Given the description of an element on the screen output the (x, y) to click on. 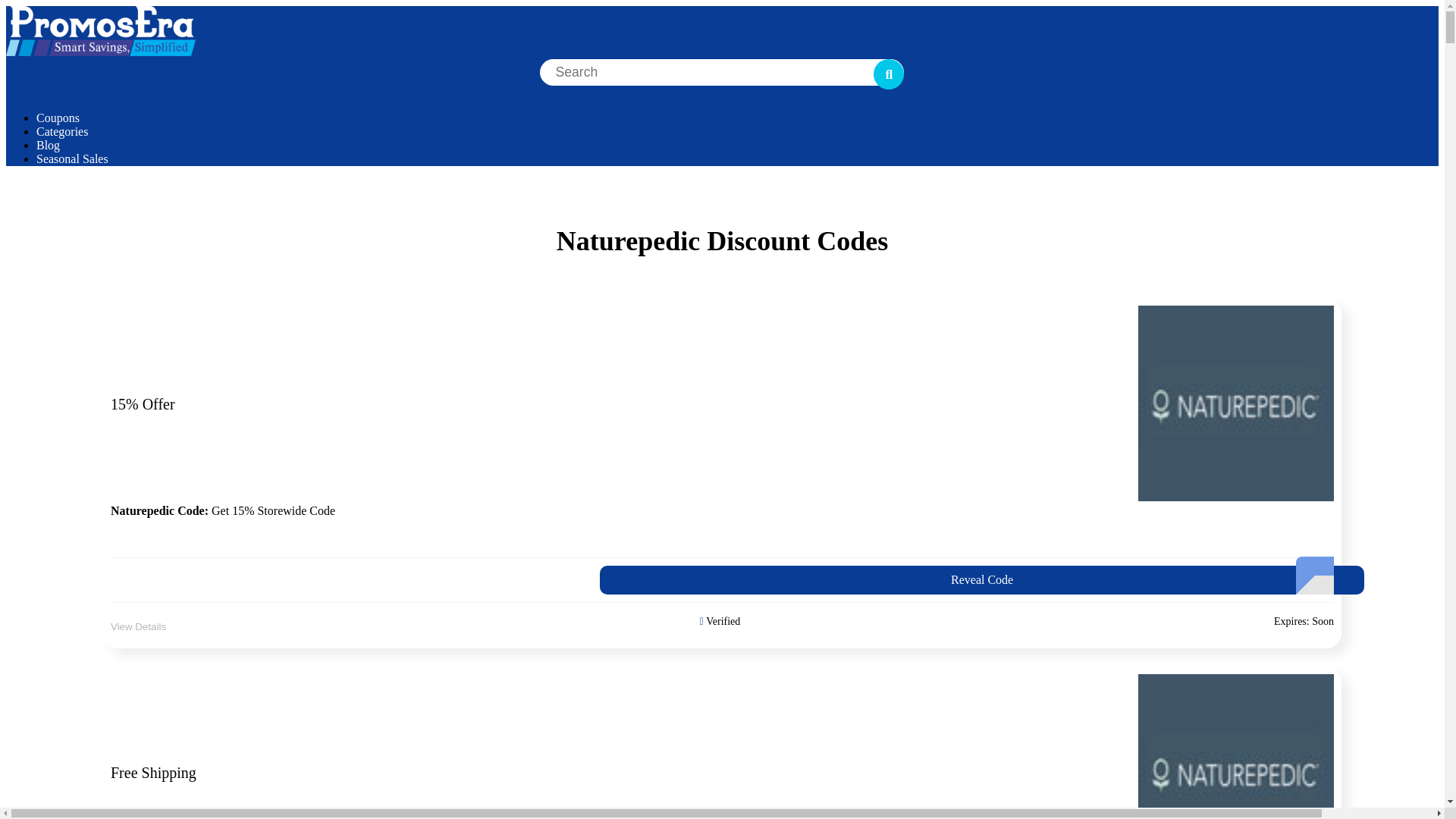
Seasonal Sales (71, 158)
Blog (47, 144)
View Details (721, 579)
Categories (137, 626)
Coupons (61, 131)
